Given the description of an element on the screen output the (x, y) to click on. 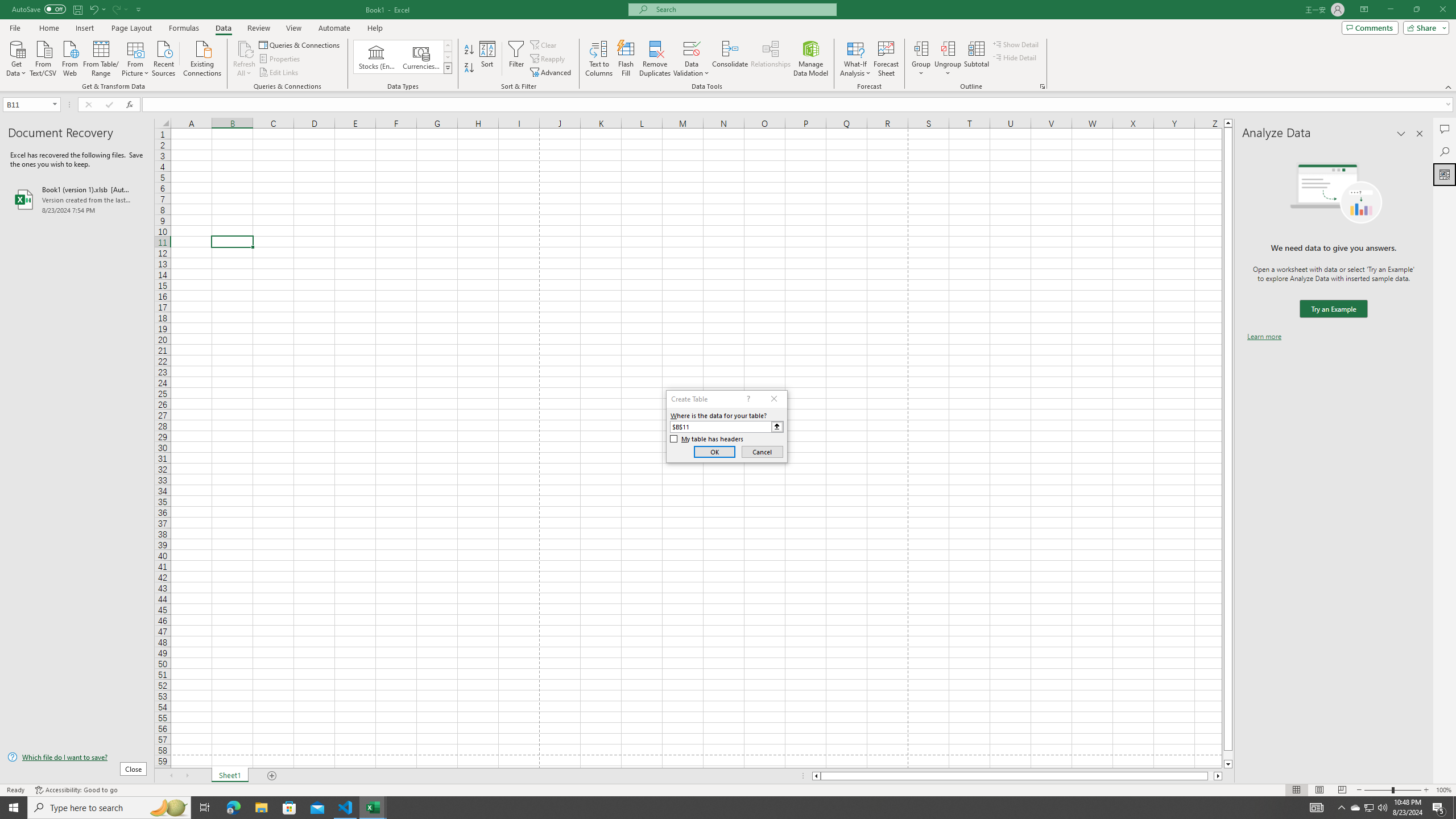
Sort A to Z (469, 49)
Formula Bar (799, 104)
Restore Down (1416, 9)
Class: MsoCommandBar (728, 45)
Queries & Connections (300, 44)
Flash Fill (625, 58)
